Given the description of an element on the screen output the (x, y) to click on. 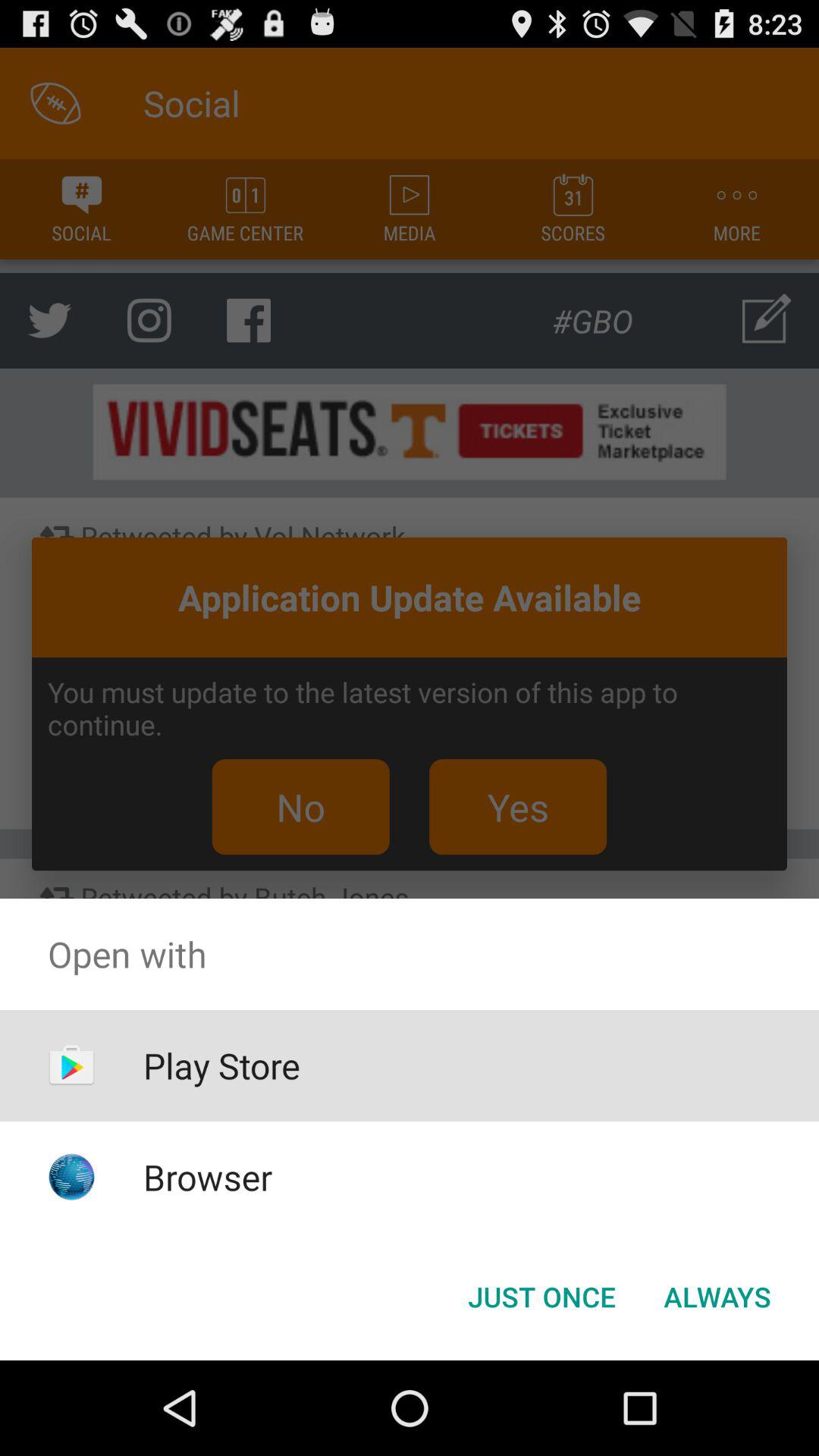
flip to the play store icon (221, 1065)
